Given the description of an element on the screen output the (x, y) to click on. 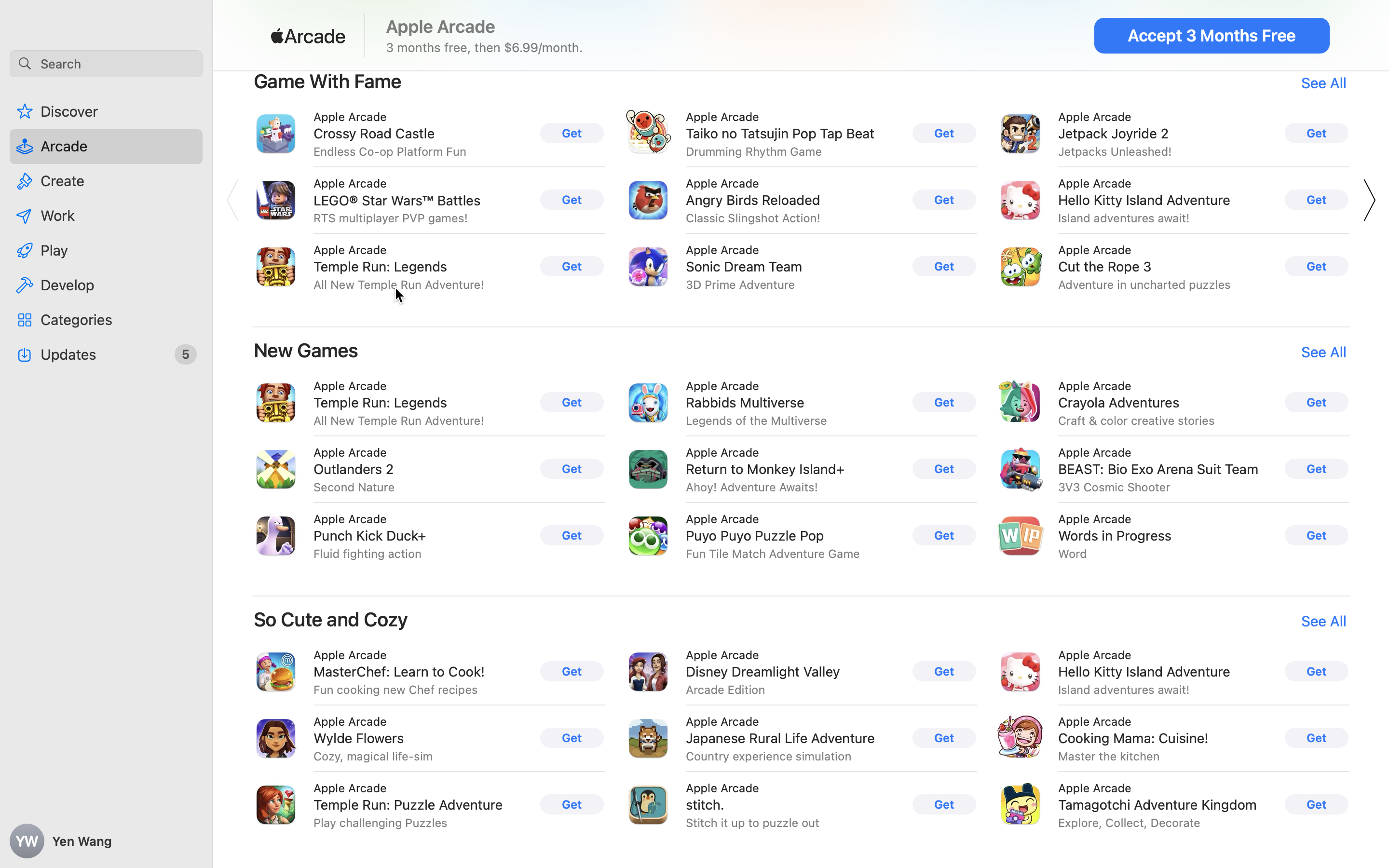
Yen Wang Element type: AXButton (106, 840)
